Given the description of an element on the screen output the (x, y) to click on. 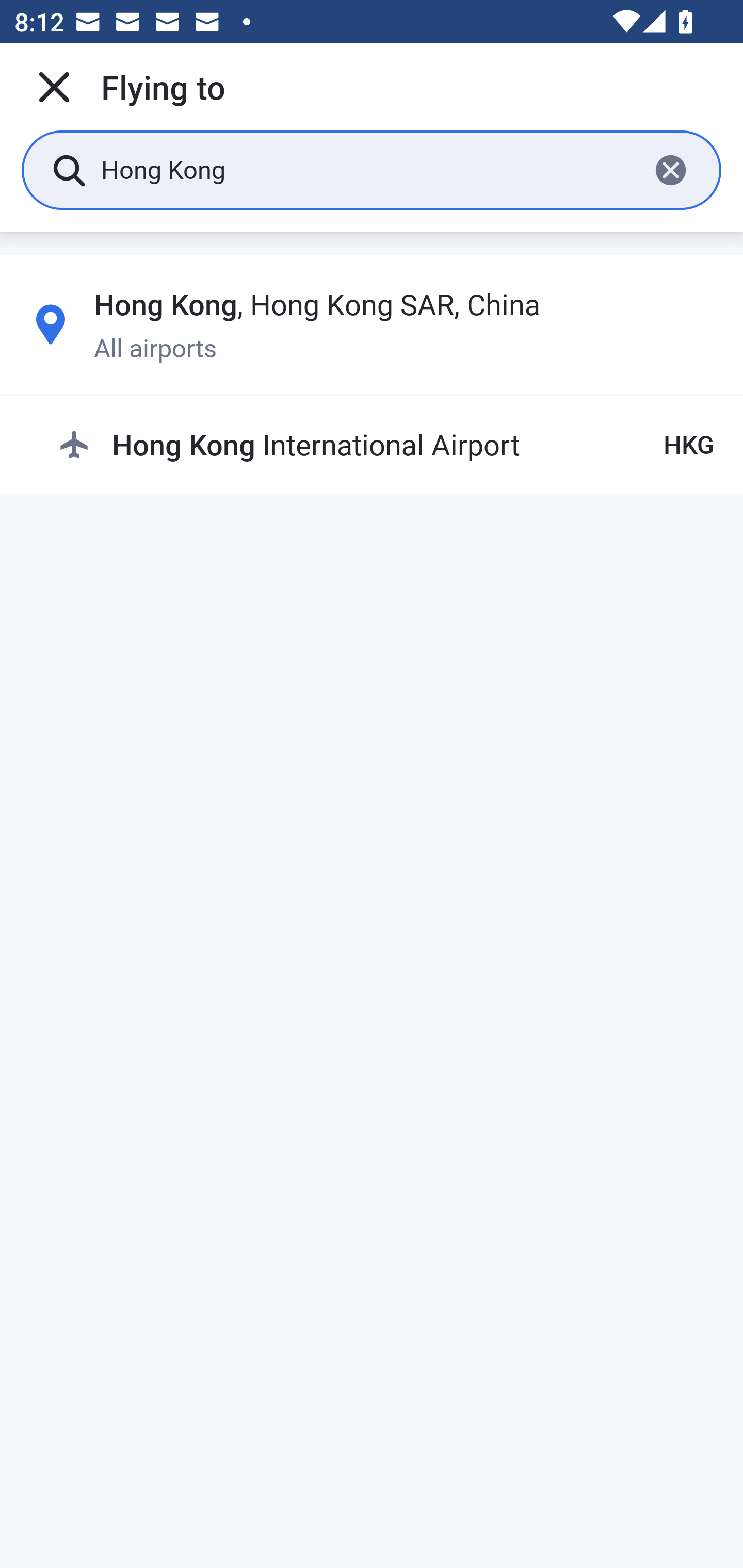
Hong Kong (367, 169)
Hong Kong, Hong Kong SAR, China All airports (371, 324)
Hong Kong International Airport HKG (385, 444)
